Given the description of an element on the screen output the (x, y) to click on. 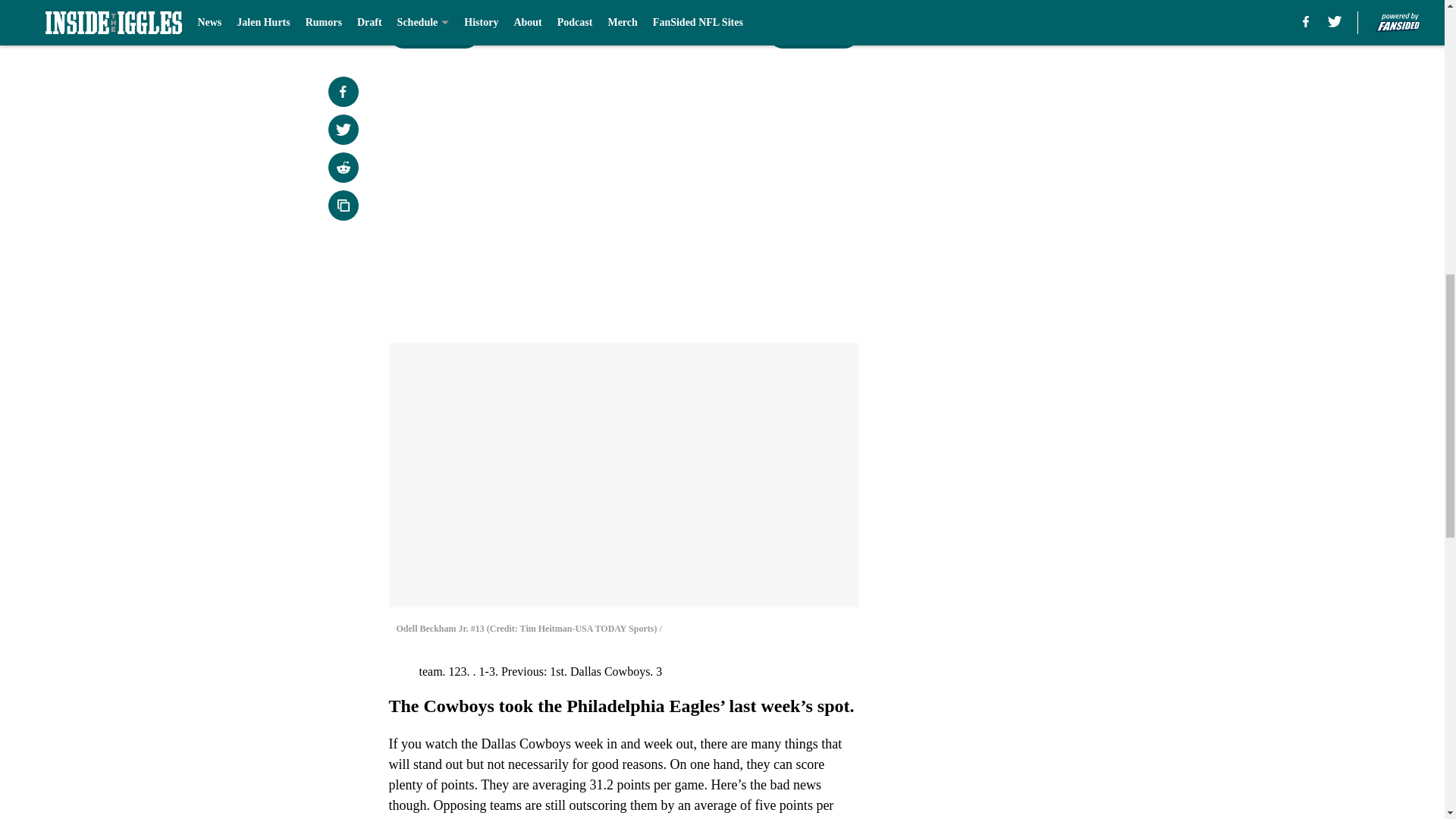
Prev (433, 33)
Next (813, 33)
